Given the description of an element on the screen output the (x, y) to click on. 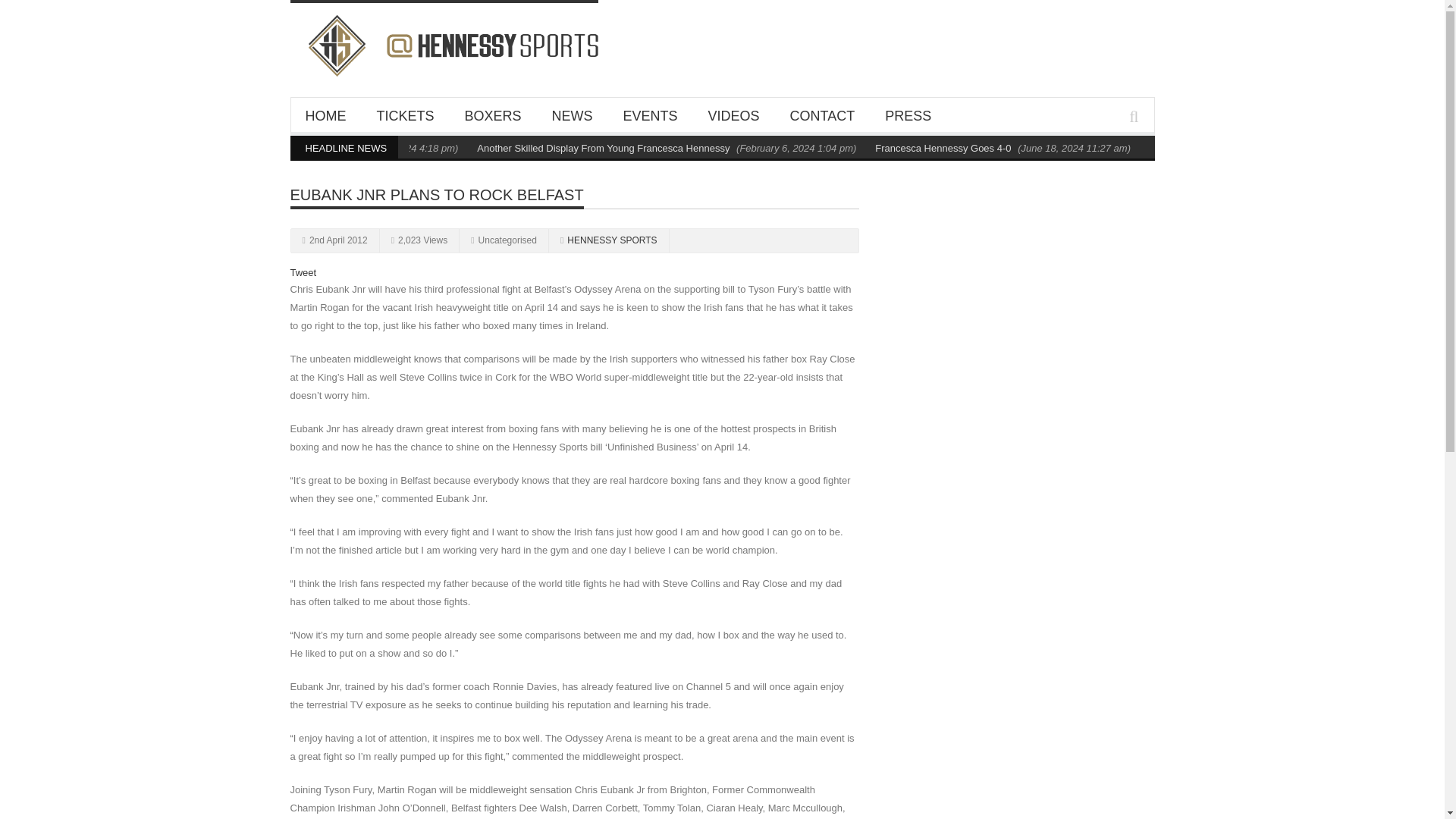
Francesca Hennessy Goes 4-0 (942, 147)
CONTACT (822, 114)
Another Skilled Display From Young Francesca Hennessy (603, 147)
TICKETS (404, 114)
NEWS (572, 114)
HENNESSY SPORTS (611, 240)
BOXERS (493, 114)
HOME (325, 114)
VIDEOS (733, 114)
Tweet (302, 272)
EVENTS (650, 114)
PRESS (907, 114)
Posts by HENNESSY SPORTS (611, 240)
